Given the description of an element on the screen output the (x, y) to click on. 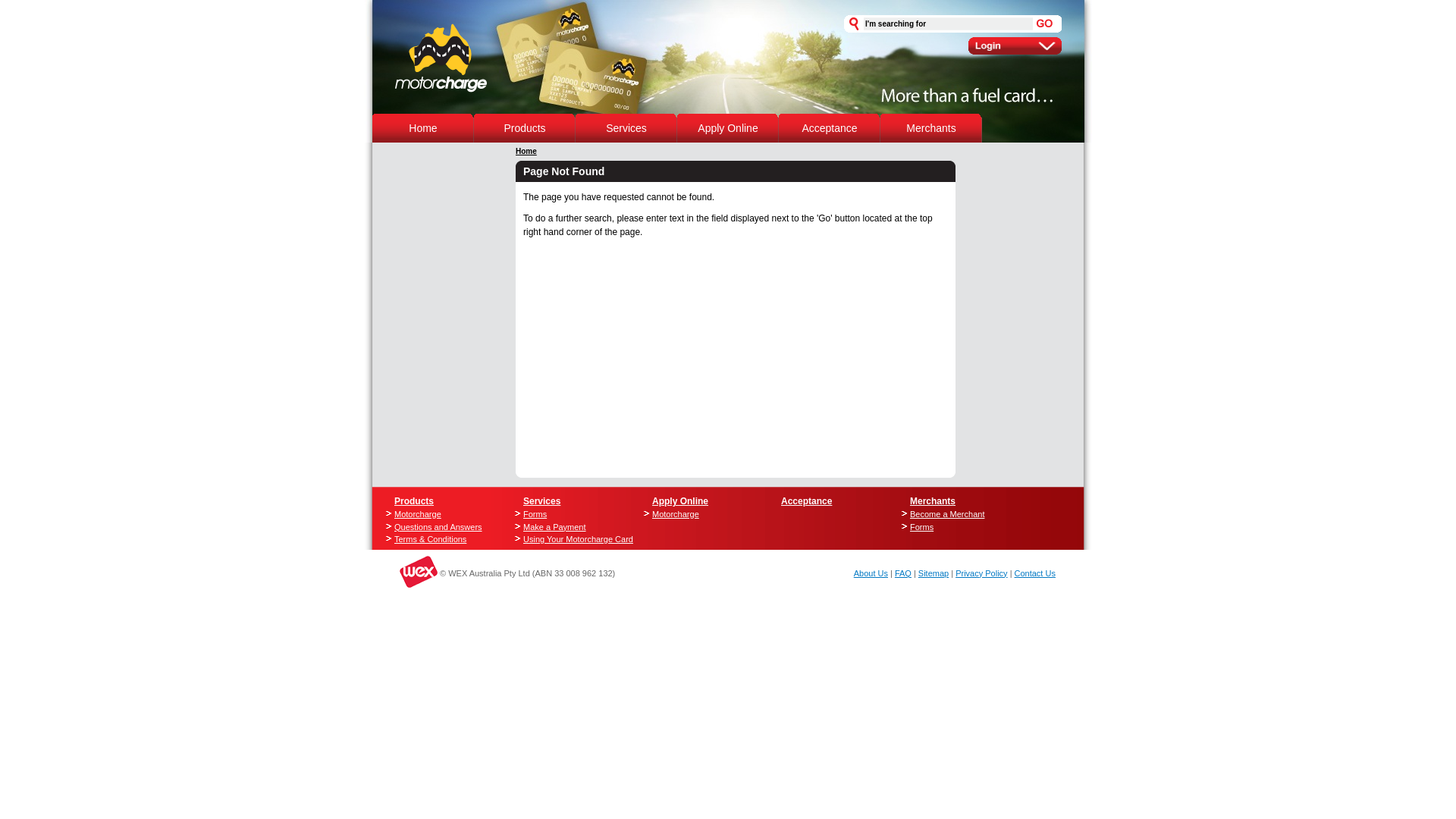
Merchants Element type: text (930, 127)
Become a Merchant Element type: text (958, 514)
FAQ Element type: text (902, 572)
Services Element type: text (541, 500)
Products Element type: text (413, 500)
Using Your Motorcharge Card Element type: text (572, 539)
Motorcharge Element type: text (701, 514)
Contact Us Element type: text (1034, 572)
Forms Element type: text (572, 514)
WEX Element type: text (397, 571)
Home Element type: text (525, 151)
Services Element type: text (625, 127)
Questions and Answers Element type: text (443, 526)
About Us Element type: text (870, 572)
Apply Online Element type: text (727, 127)
Forms Element type: text (958, 526)
Apply Online Element type: text (680, 500)
Merchants Element type: text (932, 500)
Privacy Policy Element type: text (981, 572)
Acceptance Element type: text (828, 127)
Acceptance Element type: text (806, 500)
Sitemap Element type: text (933, 572)
Search Element type: hover (1044, 23)
Products Element type: text (524, 127)
Home Element type: text (422, 127)
login Element type: hover (1014, 45)
Motorcharge Element type: text (443, 514)
Make a Payment Element type: text (572, 526)
Terms & Conditions Element type: text (443, 539)
